Given the description of an element on the screen output the (x, y) to click on. 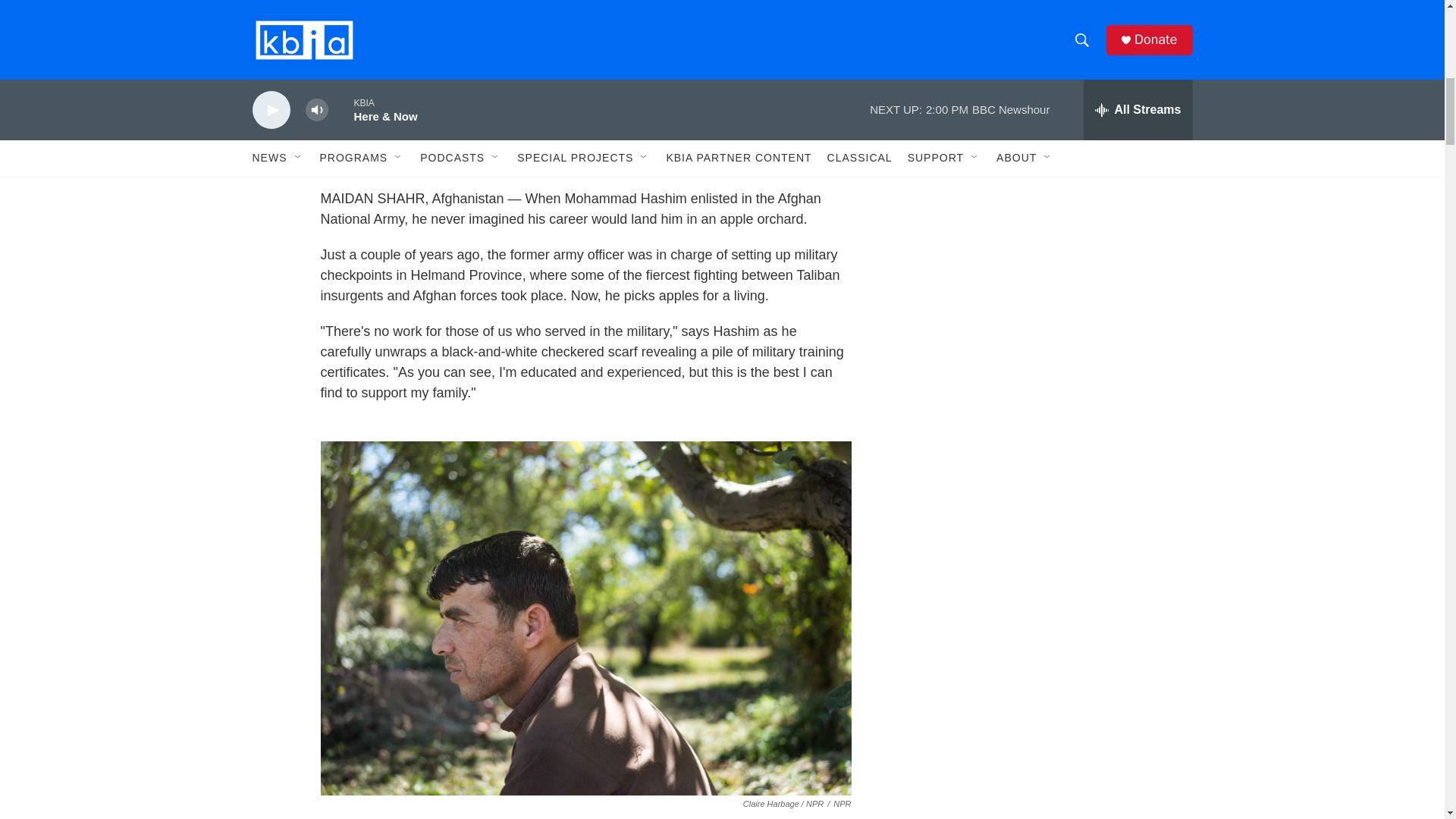
3rd party ad content (1062, 16)
